Given the description of an element on the screen output the (x, y) to click on. 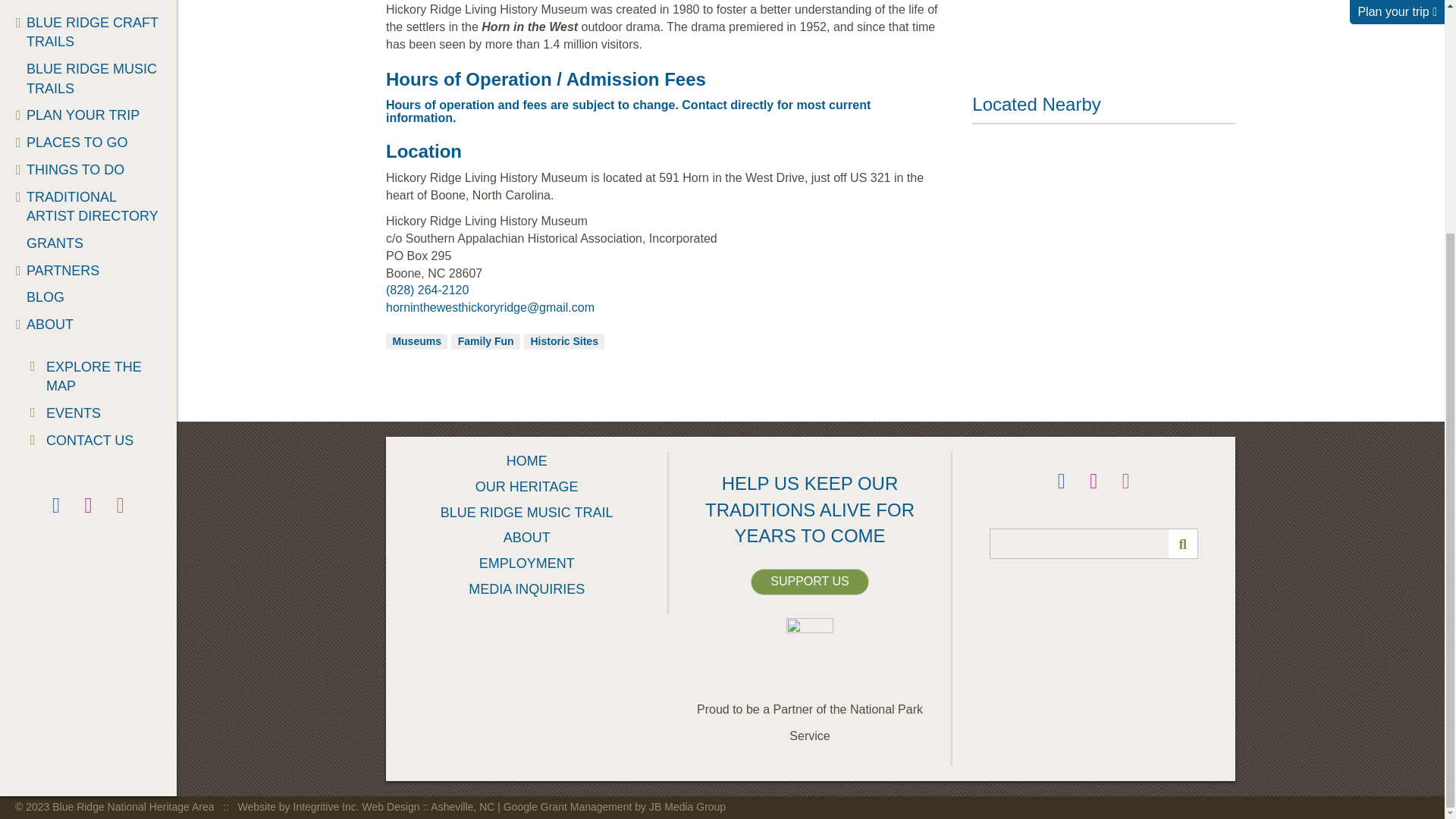
Search (1094, 543)
Integritive Web Design (367, 806)
Donate (809, 581)
Search Submit (1182, 543)
OUR HERITAGE (88, 4)
Family Fun (485, 341)
Museums (415, 341)
Historic Sites (564, 341)
